Given the description of an element on the screen output the (x, y) to click on. 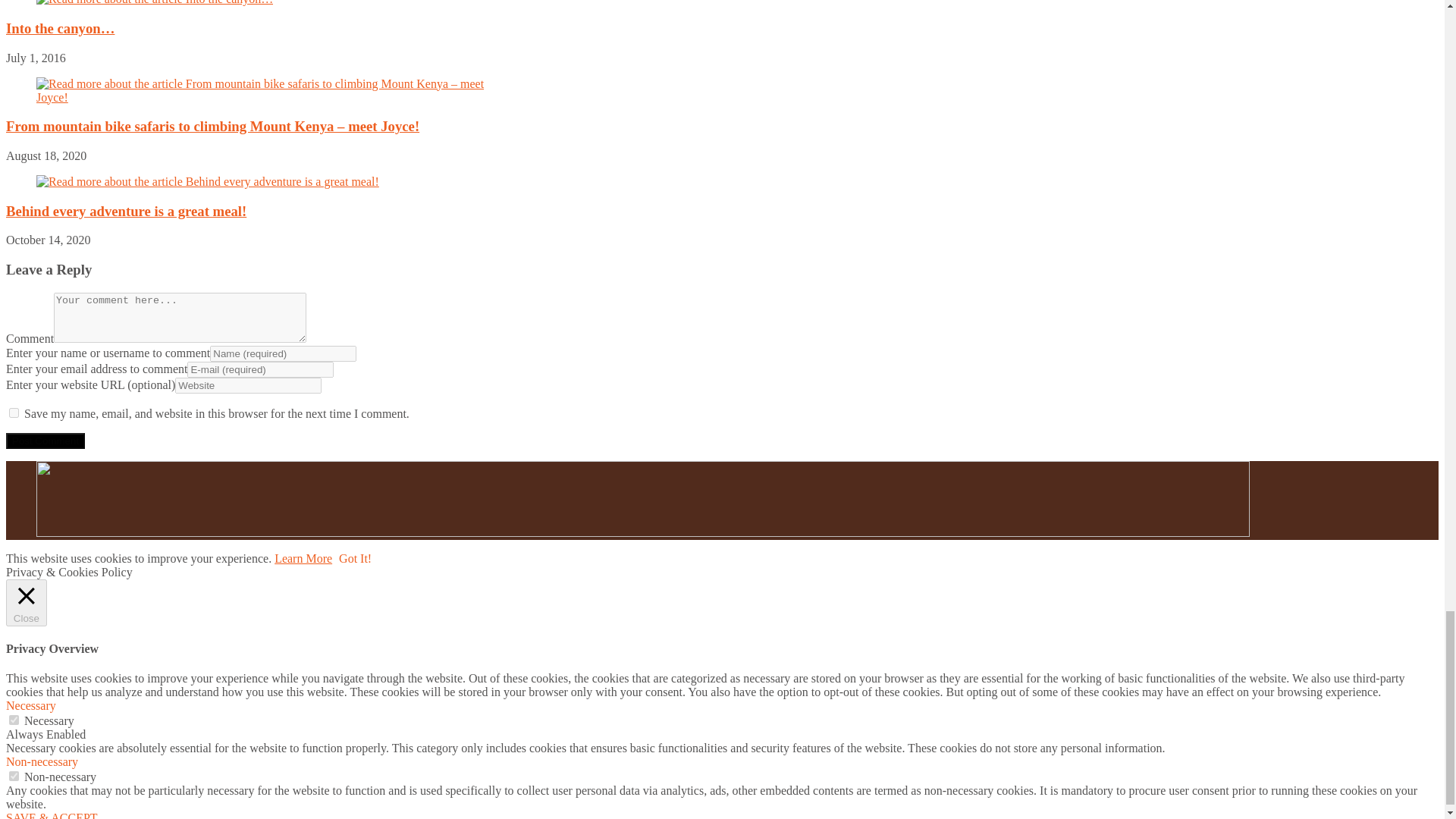
on (13, 719)
Post Comment (44, 440)
Into the canyon... Rift Valley Adventures (154, 2)
yes (13, 412)
on (13, 776)
